Given the description of an element on the screen output the (x, y) to click on. 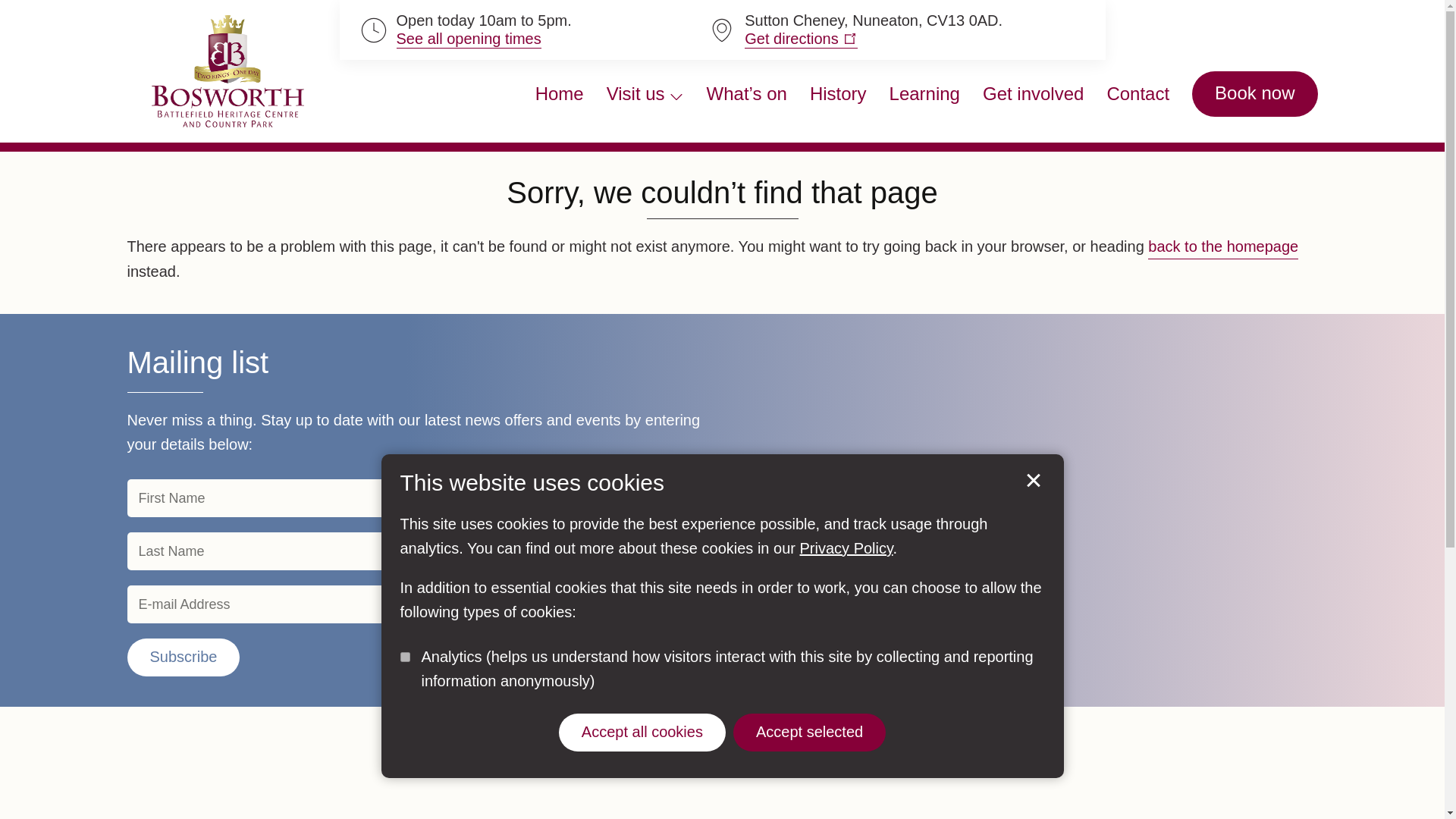
back to the homepage (1223, 246)
See all opening times (468, 38)
stats (405, 656)
Privacy Policy (846, 547)
Skip to content (33, 30)
Home (559, 94)
Book now (1254, 94)
Learning (924, 94)
Subscribe (184, 657)
Accept selected (809, 732)
Get directions (800, 38)
Contact (1137, 94)
Visit us (645, 94)
History (837, 94)
Get involved (1032, 94)
